Given the description of an element on the screen output the (x, y) to click on. 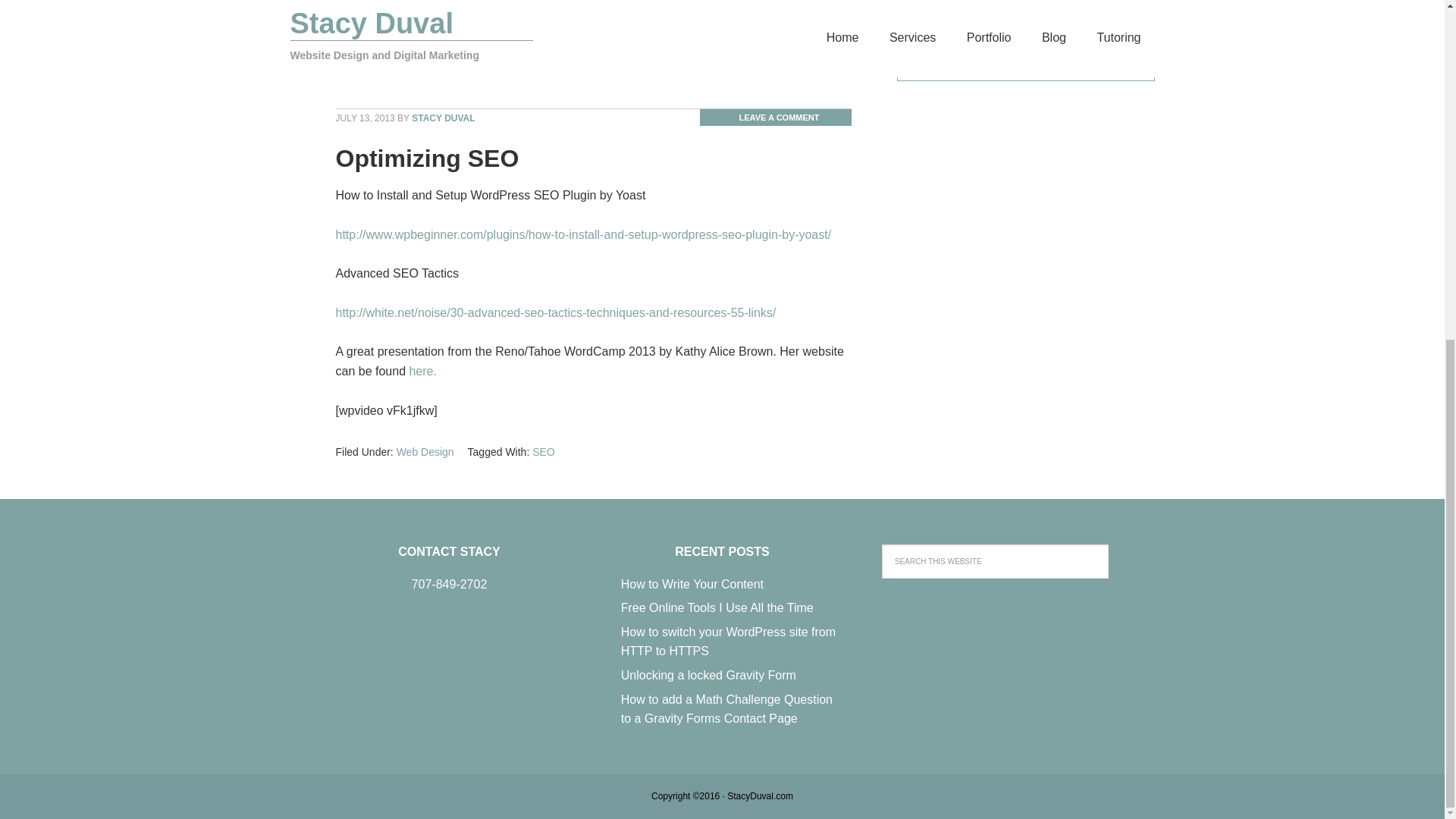
wordpress (622, 69)
SEO (543, 451)
Search (1148, 550)
tutorial (576, 69)
Web Design (425, 69)
WordPress SEO (691, 69)
SEO (543, 69)
Kathy Alice Brown - WebEnso (422, 370)
Optimizing SEO (426, 157)
here. (422, 370)
LEAVE A COMMENT (775, 117)
Free Online Tools I Use All the Time (717, 607)
How to Write Your Content (691, 584)
How to switch your WordPress site from HTTP to HTTPS (728, 641)
STACY DUVAL (443, 118)
